Given the description of an element on the screen output the (x, y) to click on. 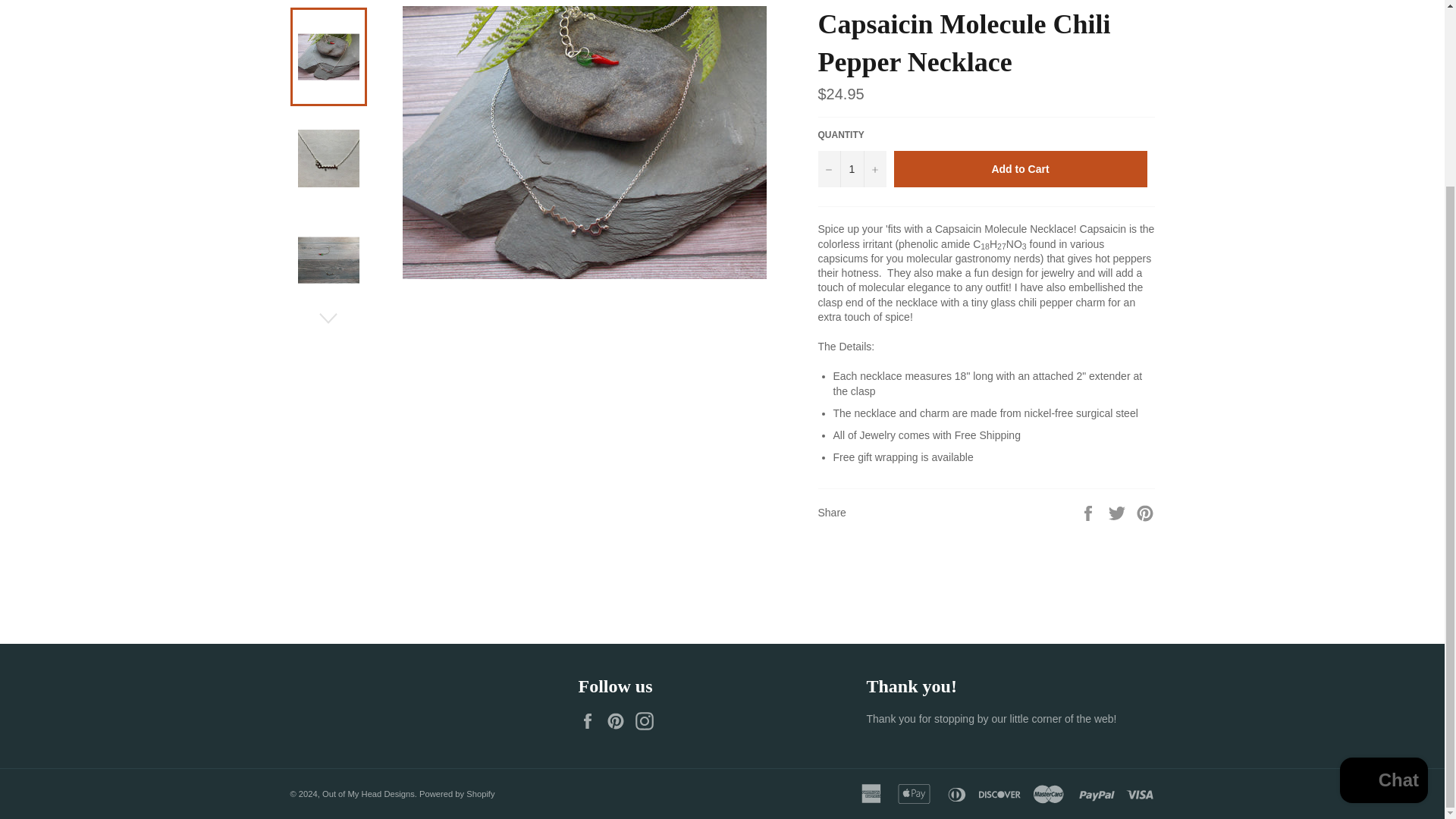
Out of My Head Designs on Instagram (647, 720)
Out of My Head Designs on Pinterest (619, 720)
Share on Facebook (1089, 511)
1 (850, 168)
Add to Cart (1020, 168)
Shopify online store chat (1383, 550)
Pin on Pinterest (1144, 511)
Tweet on Twitter (1118, 511)
Out of My Head Designs on Facebook (591, 720)
